Given the description of an element on the screen output the (x, y) to click on. 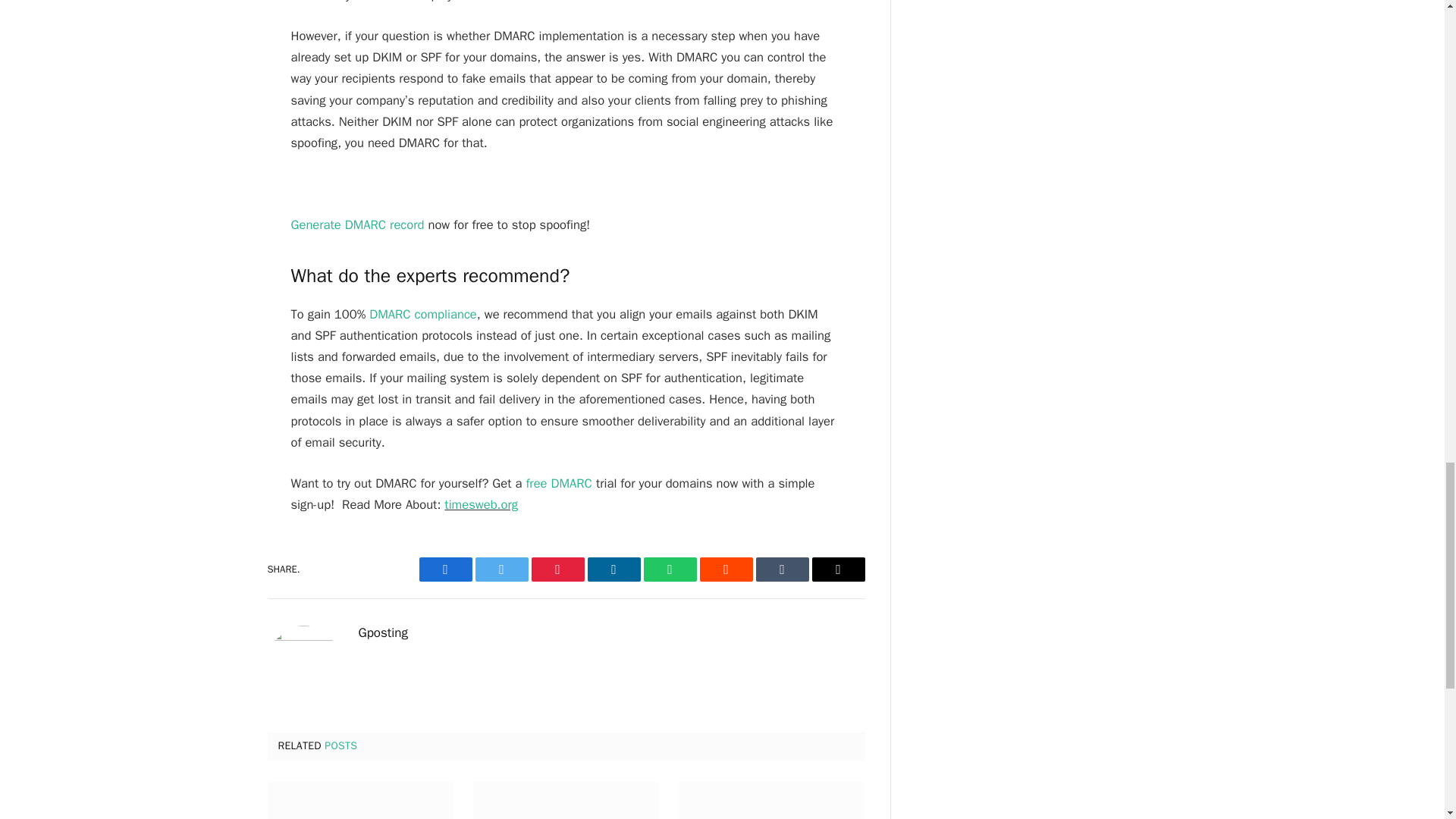
Share on WhatsApp (669, 569)
DMARC compliance (423, 314)
free DMARC (558, 483)
Share on Facebook (445, 569)
Twitter (500, 569)
Pinterest (557, 569)
Facebook (445, 569)
Share on Pinterest (557, 569)
Share on LinkedIn (613, 569)
timesweb.org (481, 504)
